Given the description of an element on the screen output the (x, y) to click on. 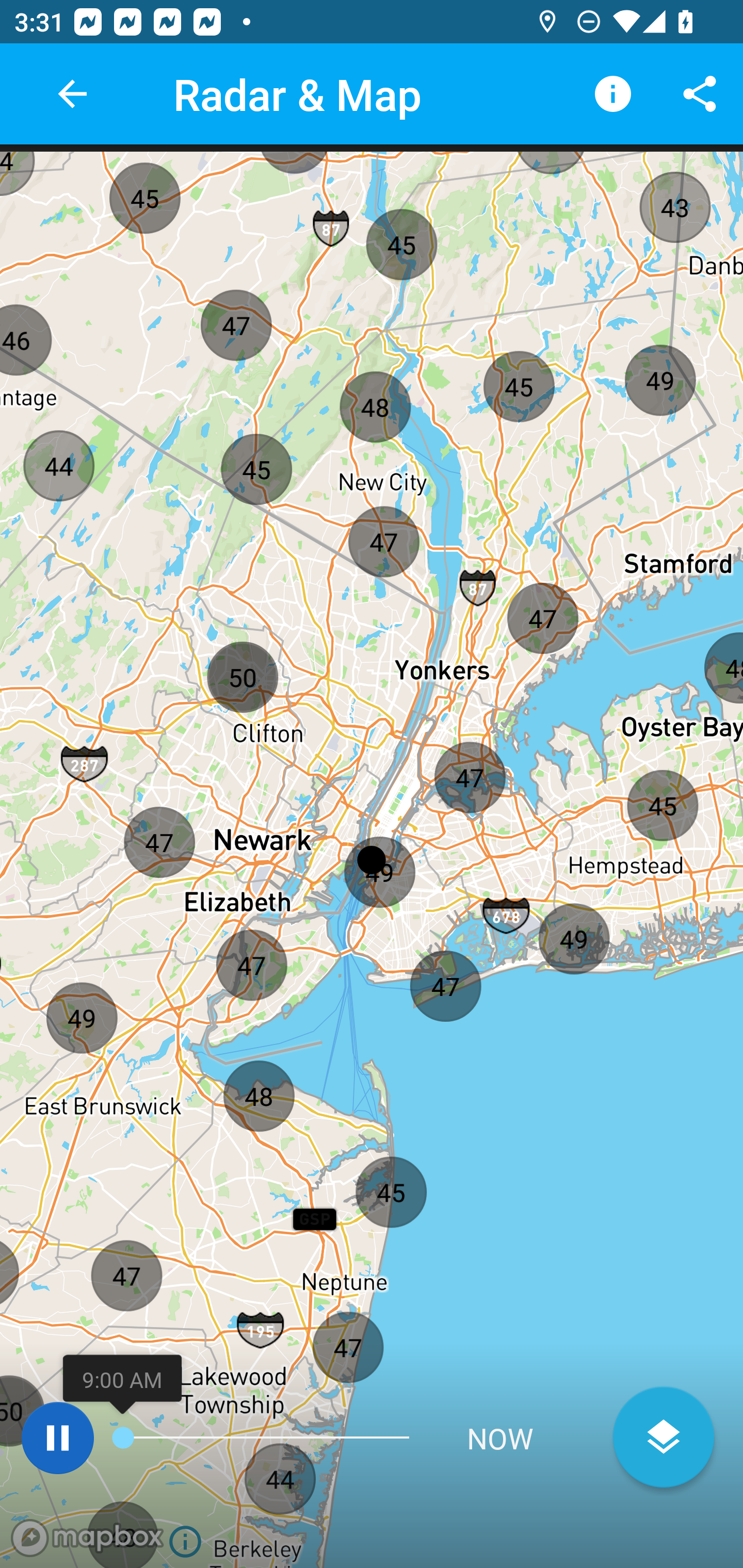
back (71, 93)
Legend (612, 93)
Share (699, 93)
Open layers menu. (663, 1437)
Pause map layers animation. (57, 1437)
